Given the description of an element on the screen output the (x, y) to click on. 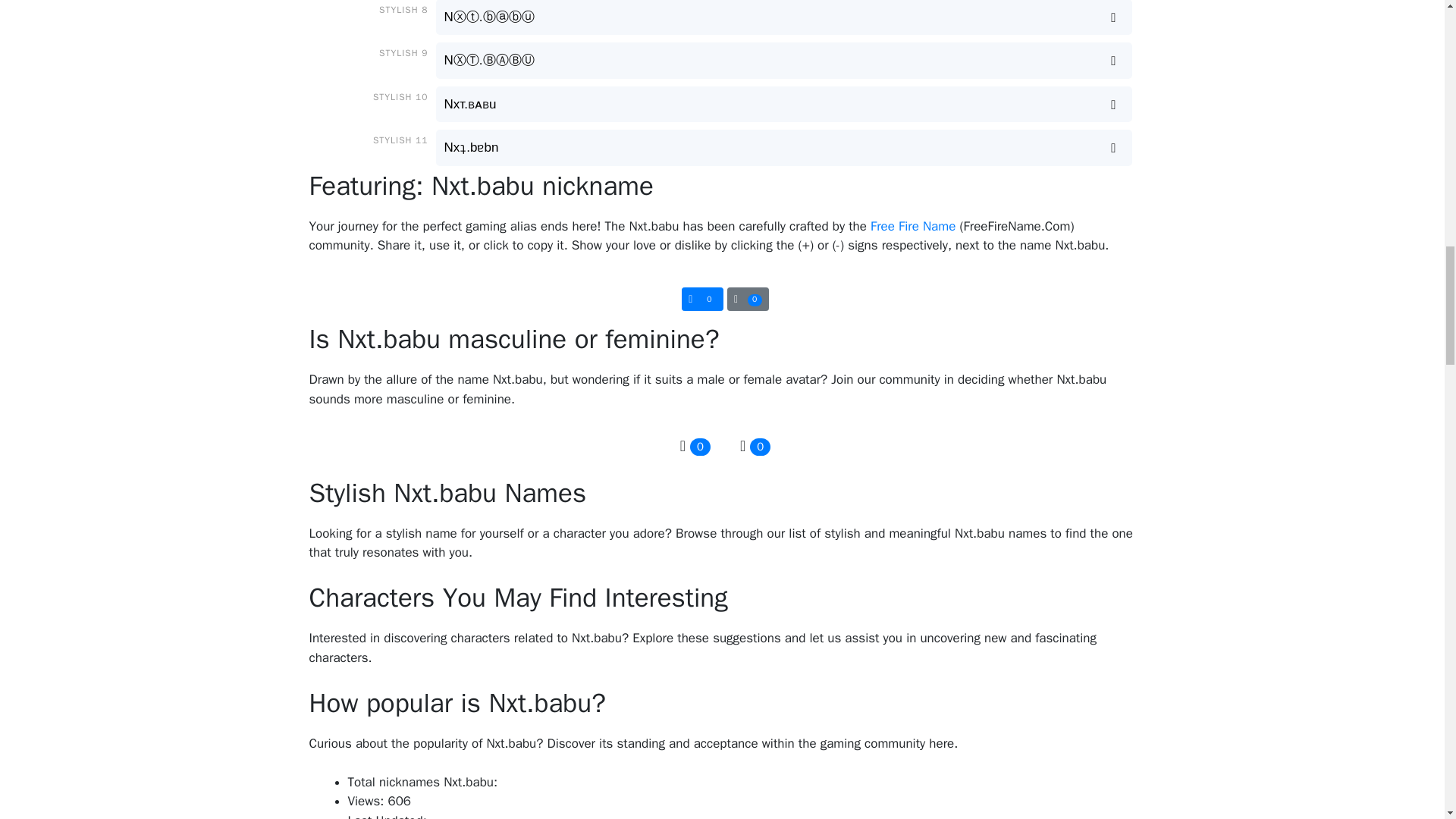
Free Fire Name (912, 226)
